Given the description of an element on the screen output the (x, y) to click on. 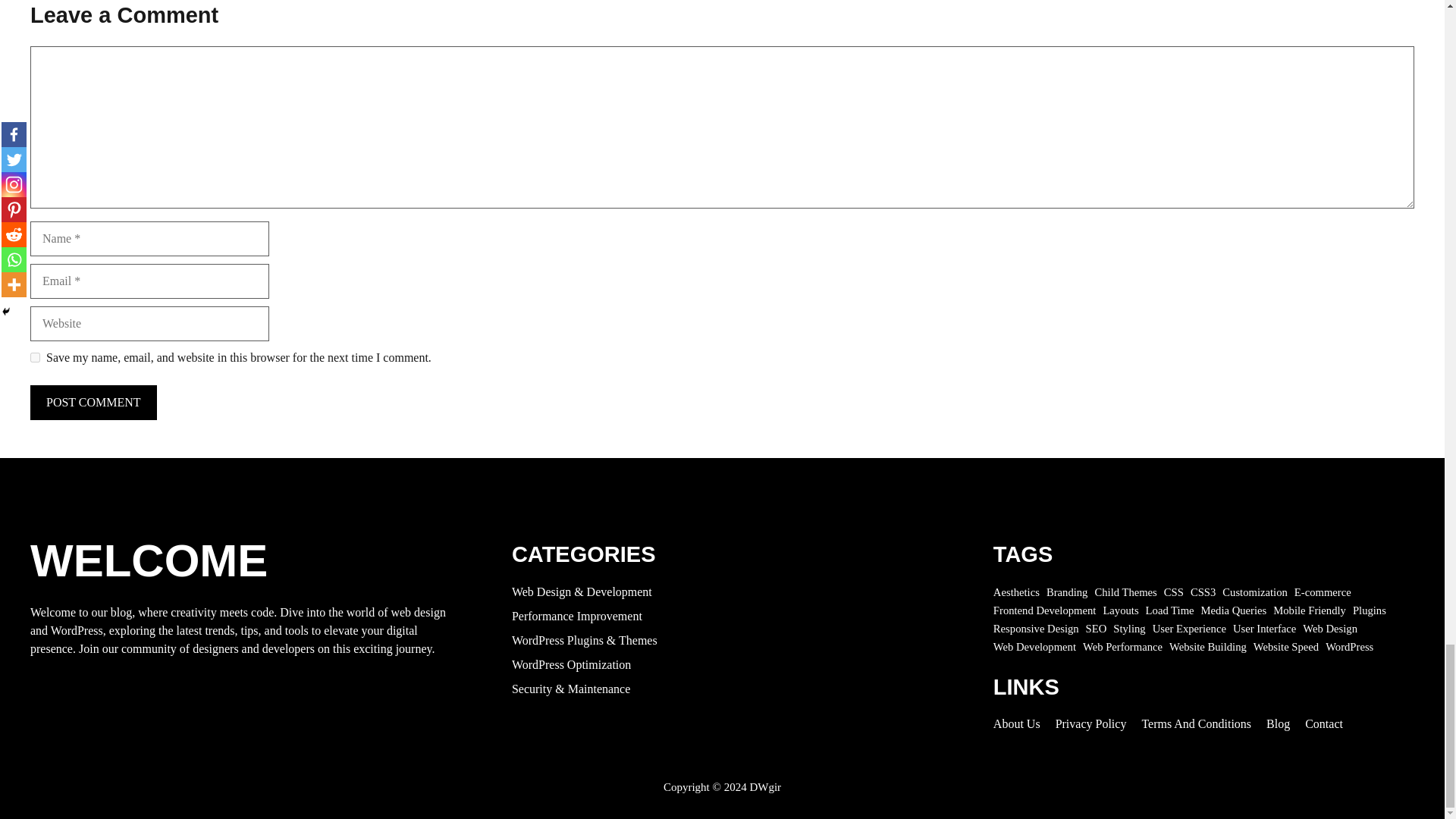
Post Comment (93, 402)
yes (35, 357)
